Given the description of an element on the screen output the (x, y) to click on. 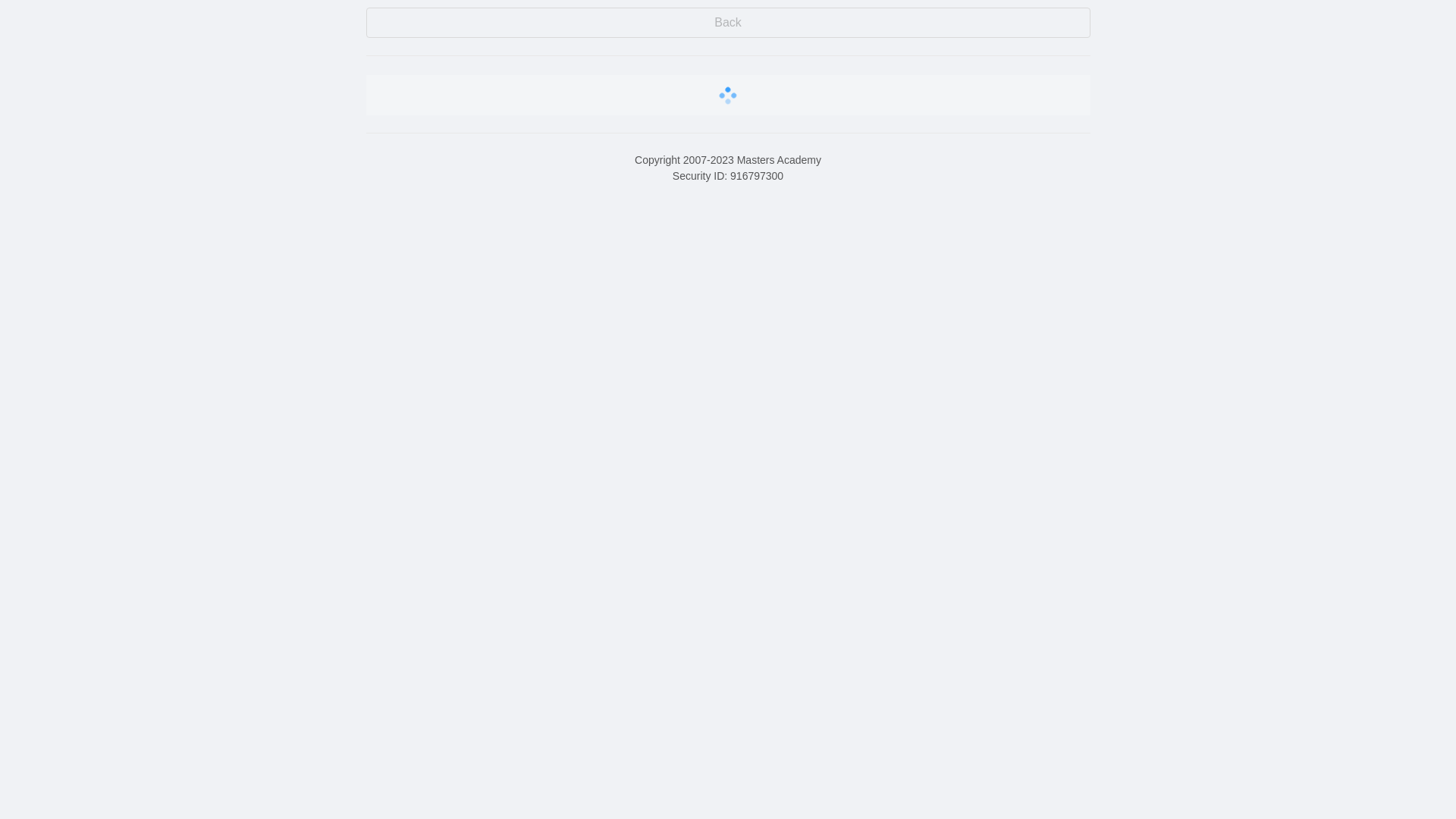
Back Element type: text (727, 22)
